Given the description of an element on the screen output the (x, y) to click on. 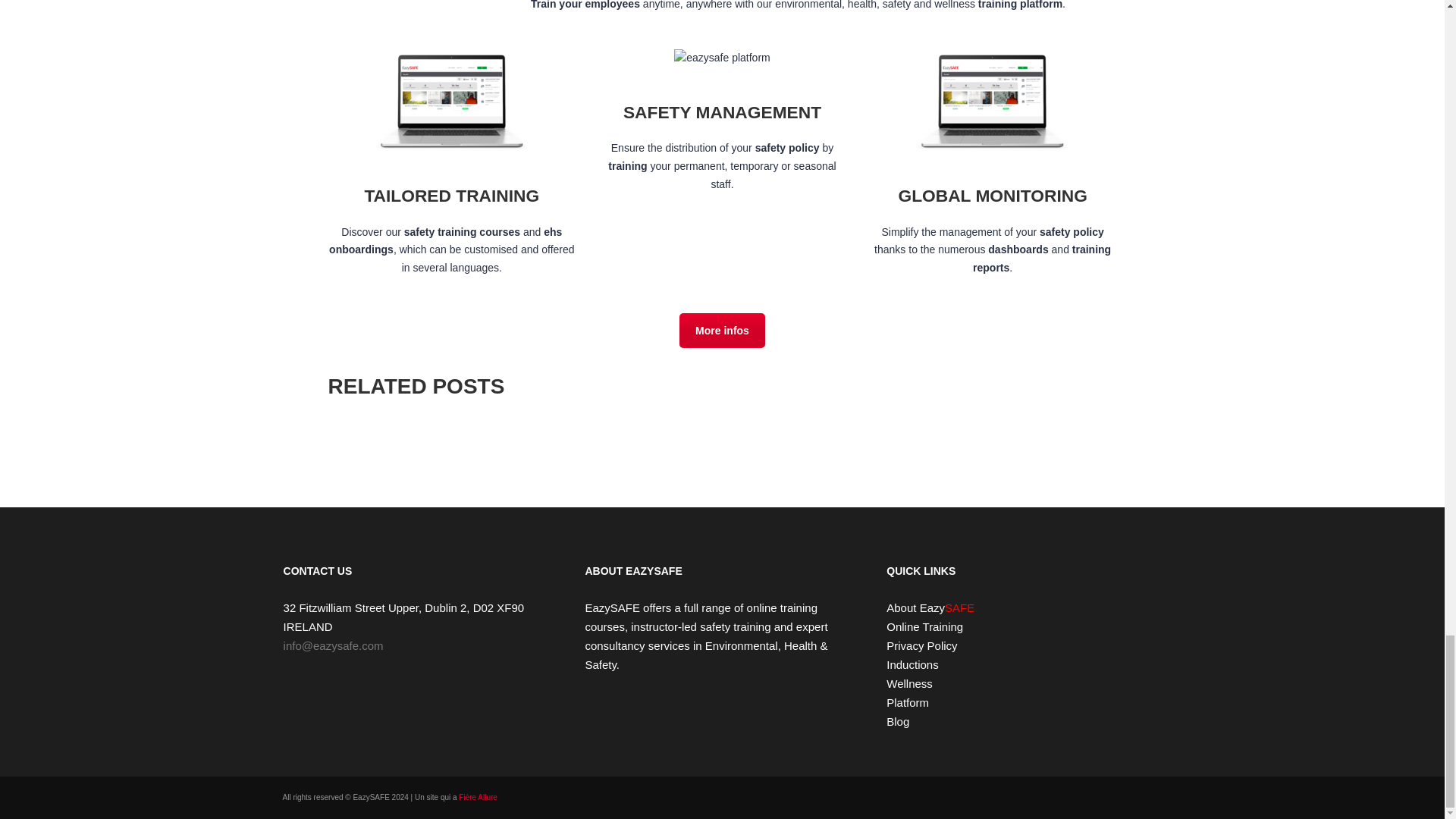
apprenants-e1666547314964 (451, 99)
Blog (897, 721)
More infos (722, 330)
Inductions (911, 664)
Plateforme-EAZYSAFE (722, 58)
Platform (907, 702)
Wellness (909, 683)
About EazySAFE (930, 607)
Who Are We ? (722, 330)
apprenants-e1666547314964 (992, 99)
Privacy Policy (921, 645)
Online Training (924, 626)
